Given the description of an element on the screen output the (x, y) to click on. 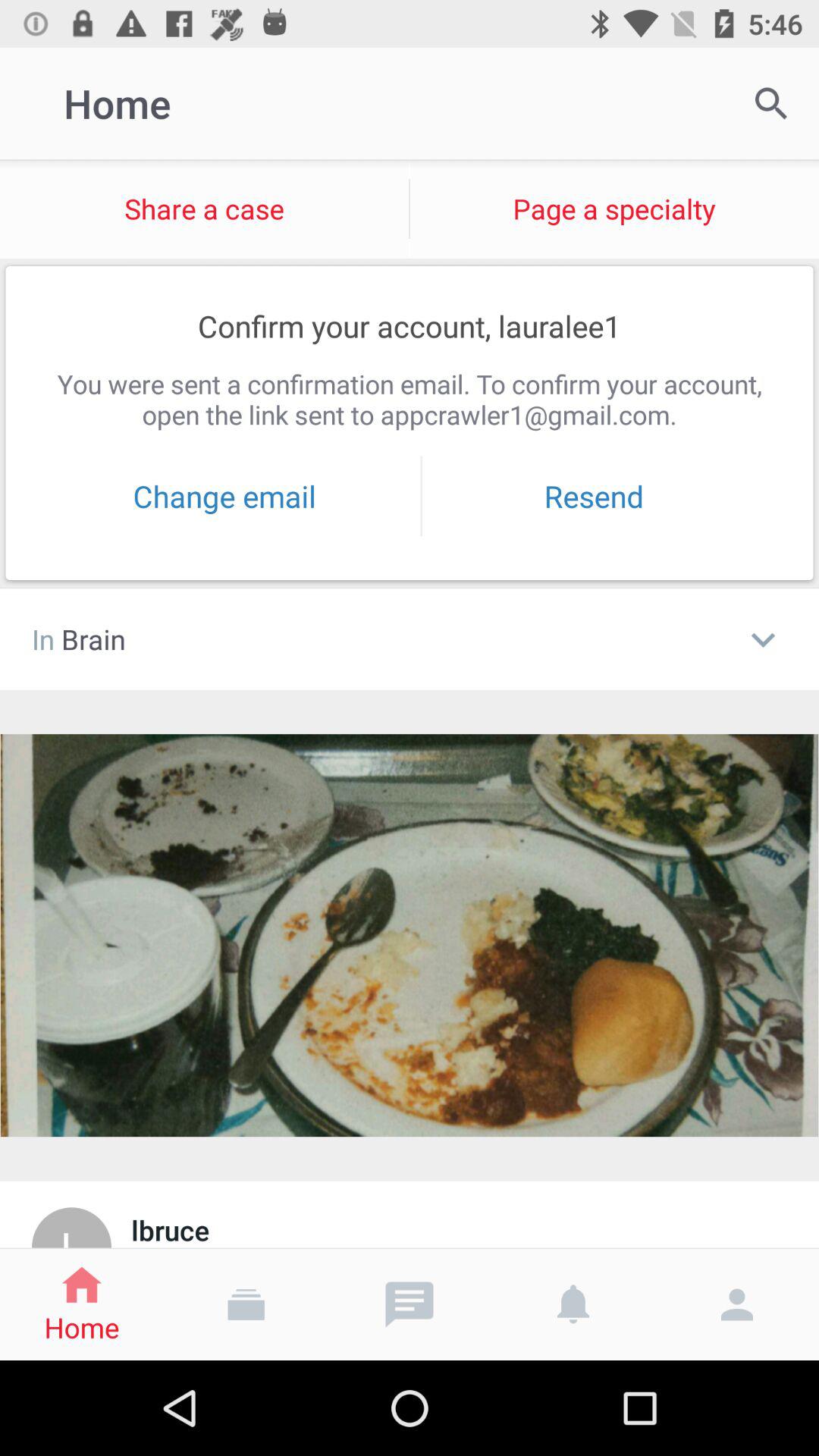
click the icon above the confirm your account icon (614, 208)
